Given the description of an element on the screen output the (x, y) to click on. 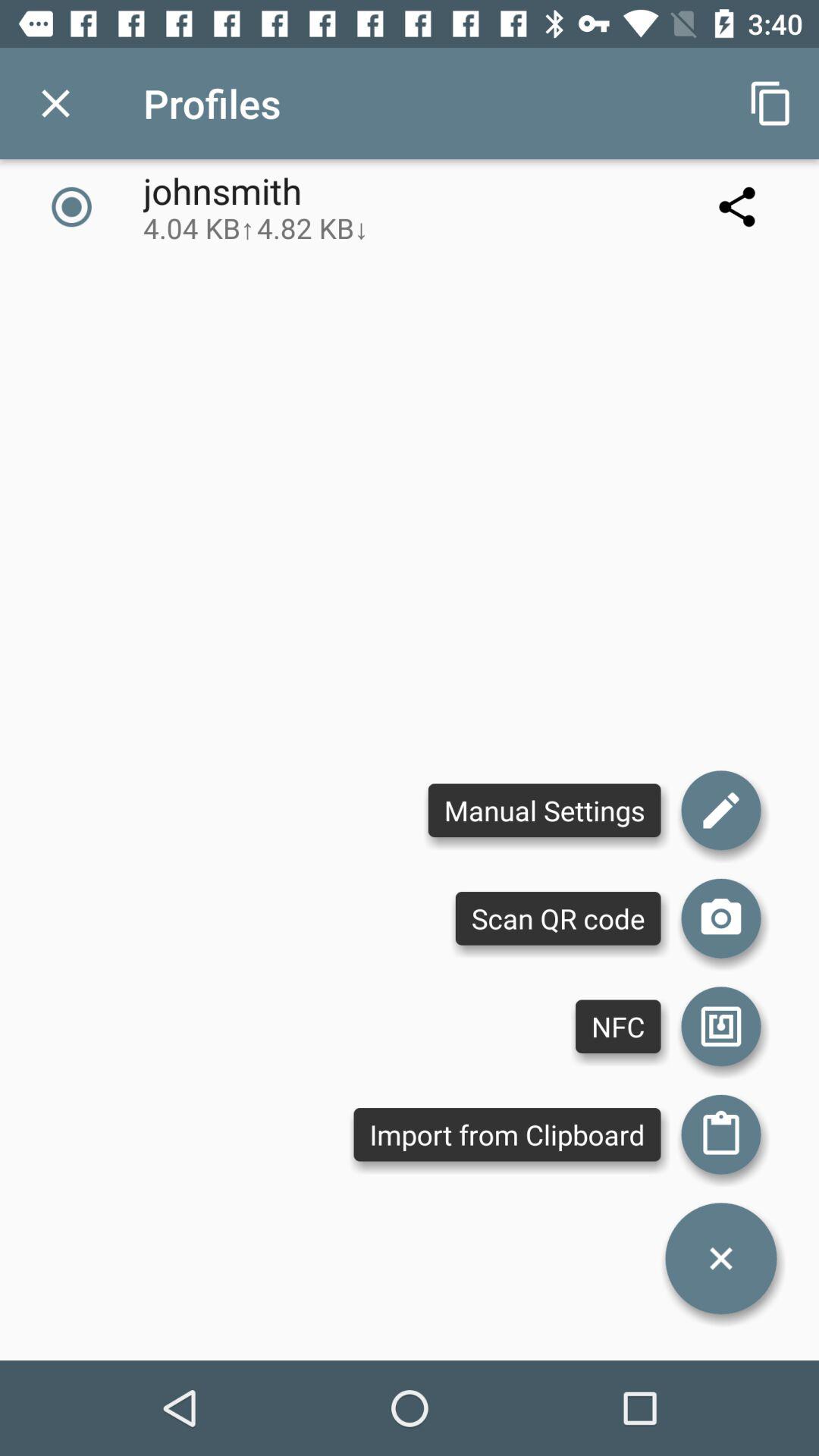
open the icon next to the johnsmith 4 04 icon (736, 206)
